Given the description of an element on the screen output the (x, y) to click on. 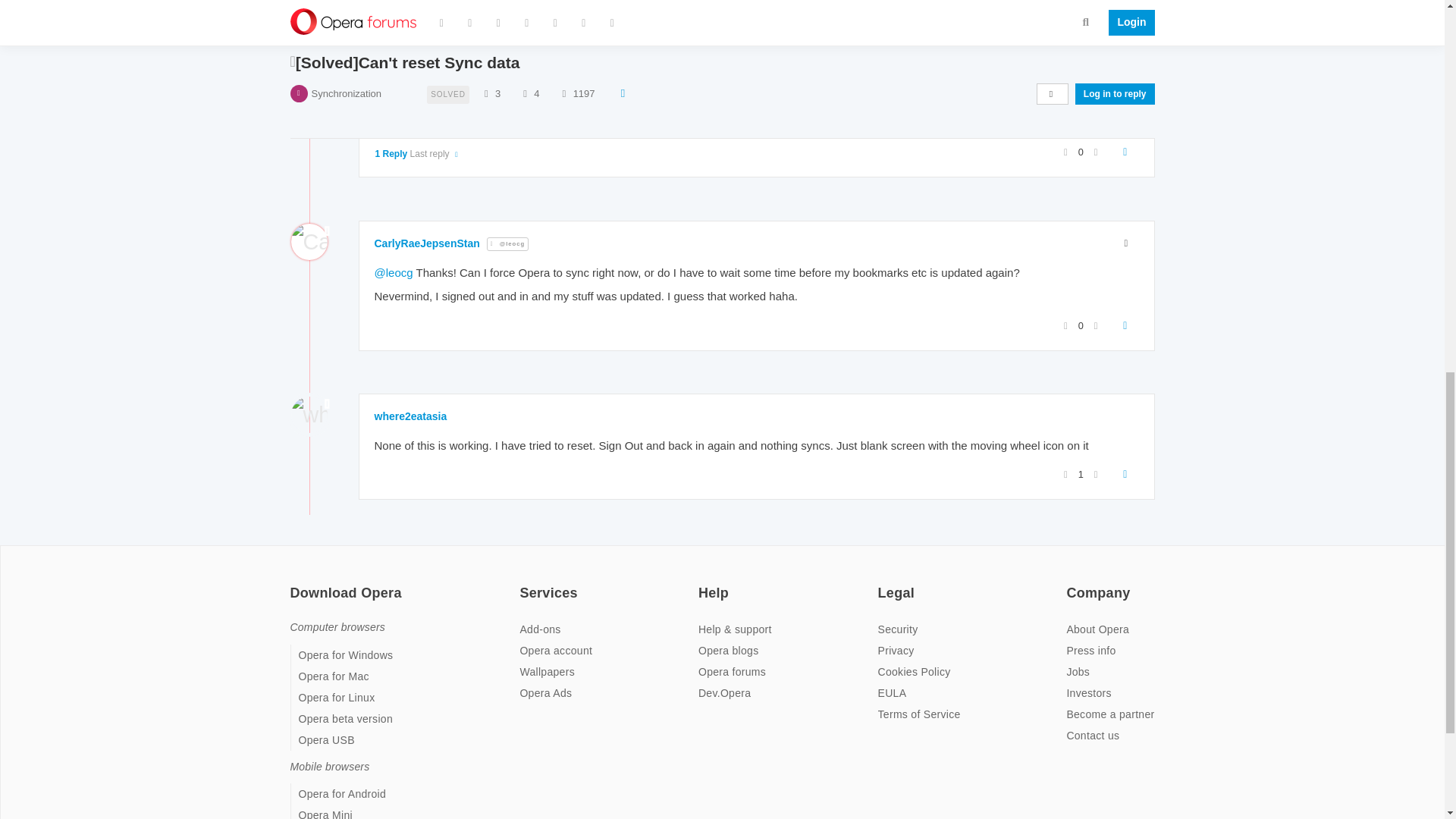
on (702, 583)
on (293, 583)
1 Reply Last reply (416, 4)
on (881, 583)
on (523, 583)
on (1070, 583)
